Given the description of an element on the screen output the (x, y) to click on. 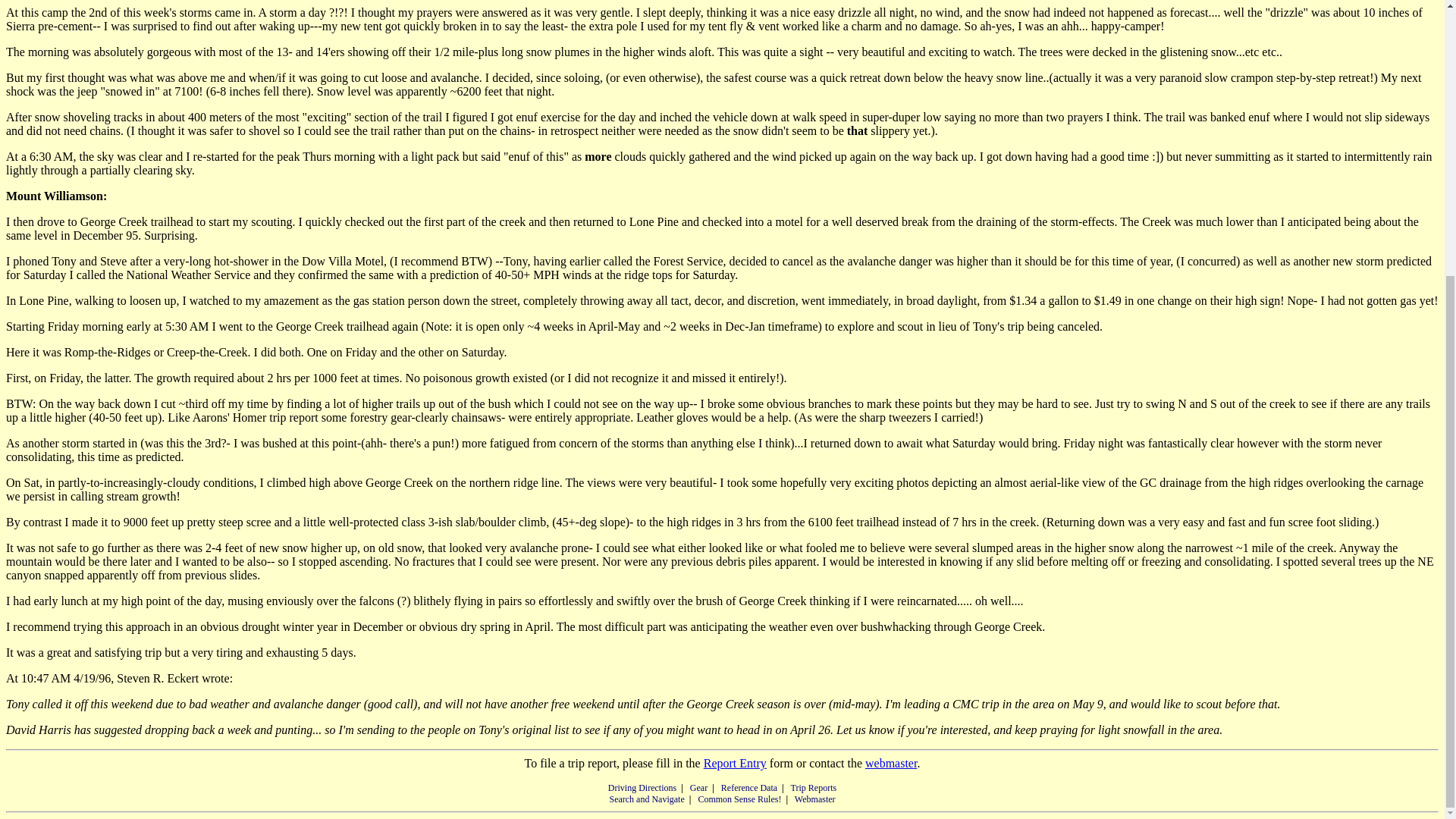
webmaster (890, 762)
Report Entry (735, 762)
Common Sense Rules! (738, 798)
Trip Reports (813, 787)
Search and Navigate (646, 798)
Gear (698, 787)
Reference Data (748, 787)
Webmaster (814, 798)
Driving Directions (642, 787)
